Given the description of an element on the screen output the (x, y) to click on. 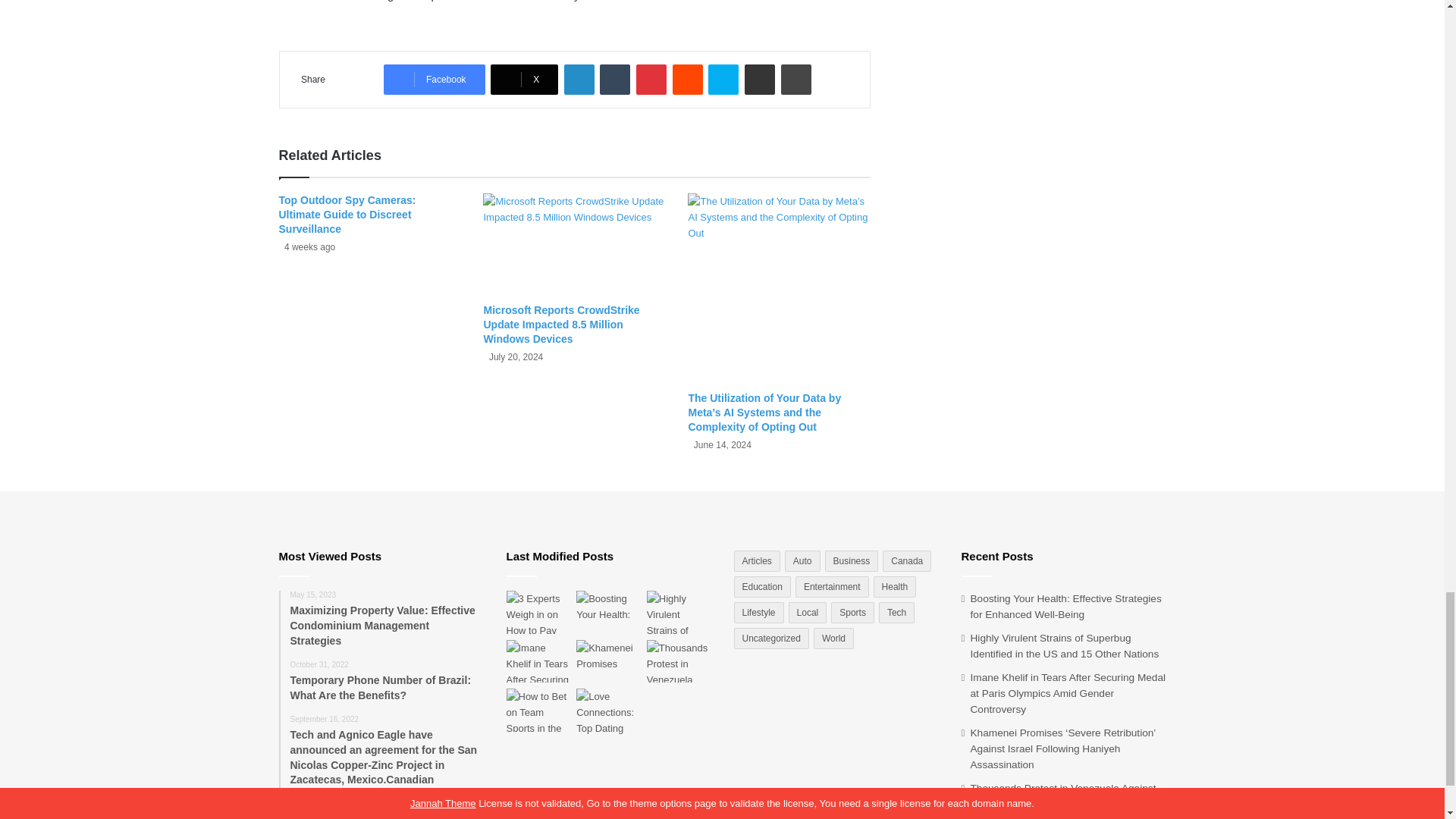
LinkedIn (579, 79)
Reddit (687, 79)
LinkedIn (579, 79)
Tumblr (614, 79)
Facebook (434, 79)
Reddit (687, 79)
Tumblr (614, 79)
X (523, 79)
Source link (308, 0)
Facebook (434, 79)
